Given the description of an element on the screen output the (x, y) to click on. 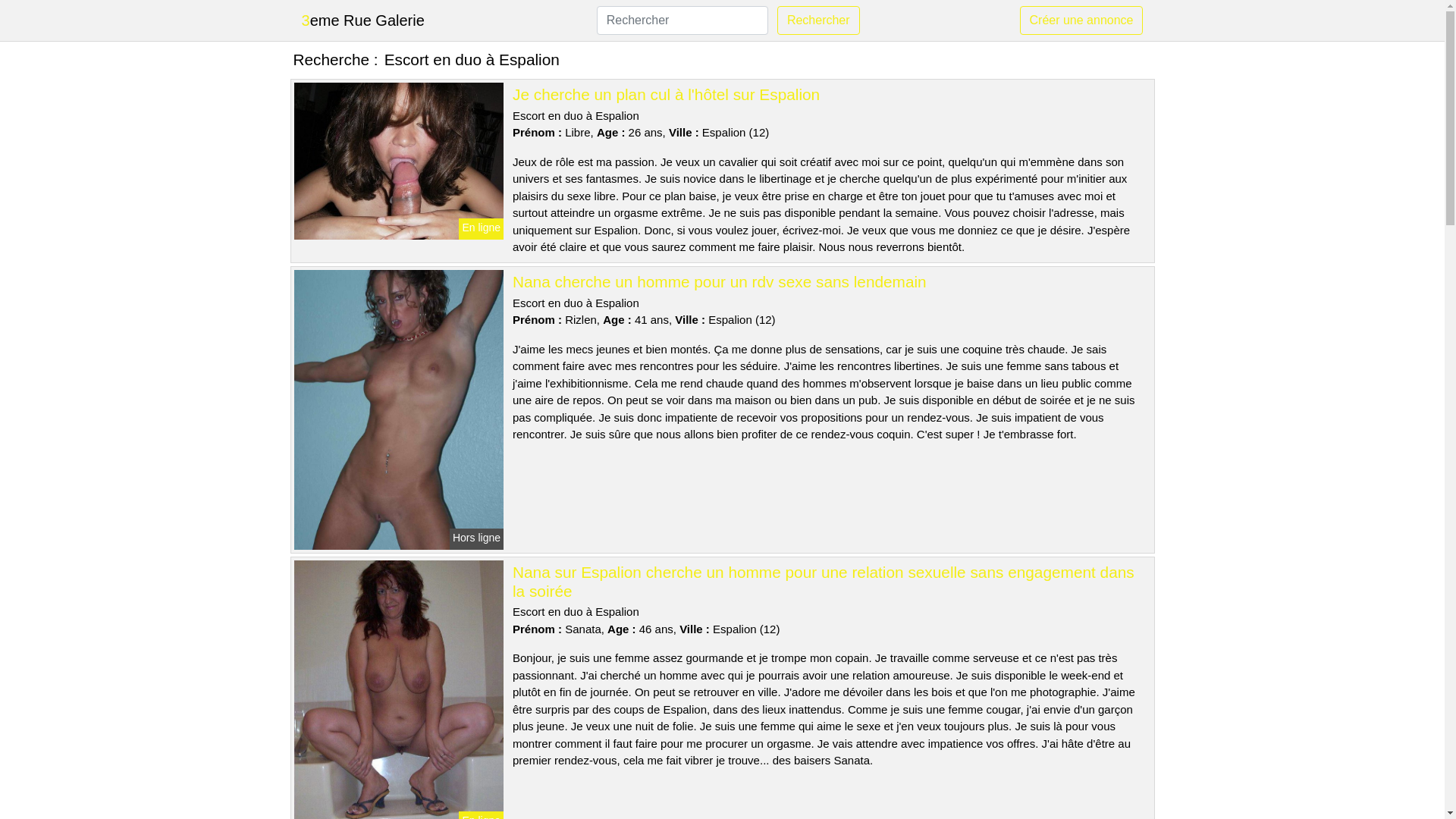
Rechercher Element type: text (818, 20)
3eme Rue Galerie Element type: text (362, 20)
Nana cherche un homme pour un rdv sexe sans lendemain Element type: text (719, 281)
